Given the description of an element on the screen output the (x, y) to click on. 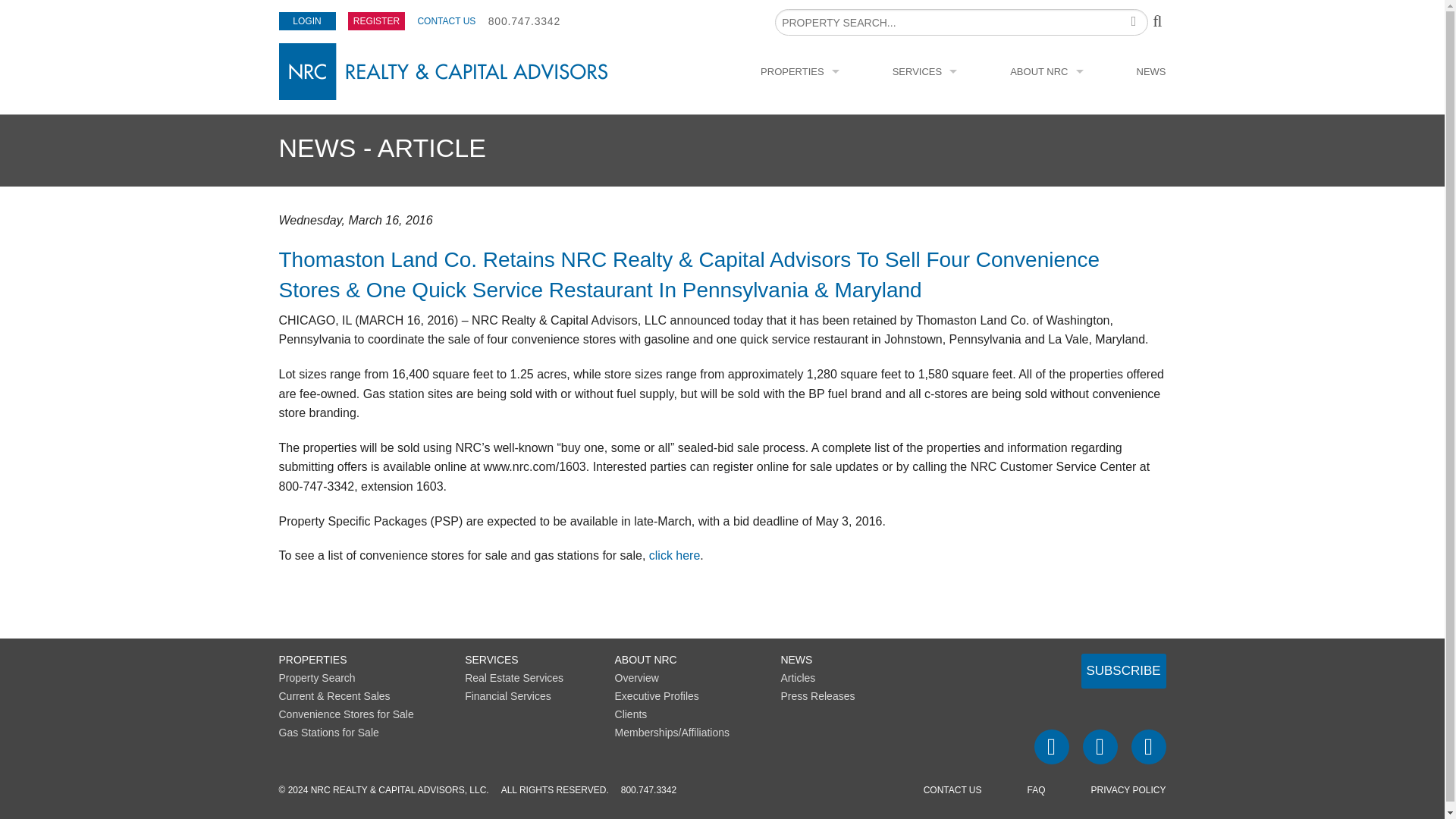
LOGIN (307, 21)
ABOUT NRC (645, 659)
Real Estate Services (513, 677)
NEWS (1151, 71)
Gas Stations for Sale (328, 732)
NRC Realty on Facebook (1050, 746)
SERVICES (491, 659)
Financial Services (507, 695)
NRC Realty on Twitter (1100, 746)
SERVICES (924, 71)
NRC Realty on LinkedIn (1148, 746)
PROPERTIES (313, 659)
REGISTER (375, 21)
Click to subscribe to NRC News (1123, 670)
Property Search (317, 677)
